Given the description of an element on the screen output the (x, y) to click on. 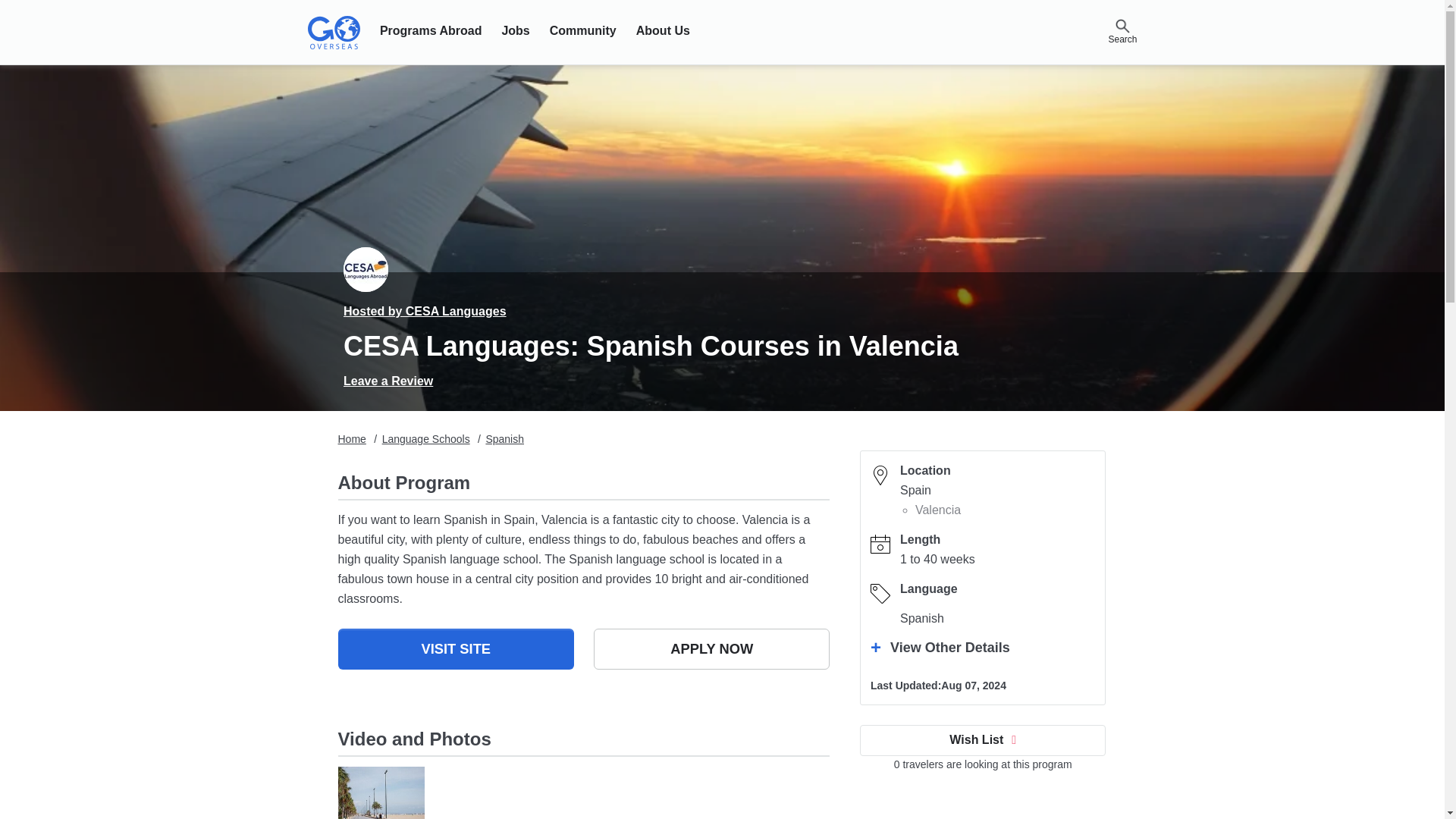
Home (351, 439)
Leave a Review (387, 380)
Language Schools (425, 439)
Spanish (504, 439)
Study Spanish in Valencia! (381, 792)
Add this program to your wish list. (982, 739)
APPLY NOW (711, 648)
Leave a Review (387, 380)
CESA Square logo (365, 269)
VISIT SITE (455, 648)
